Given the description of an element on the screen output the (x, y) to click on. 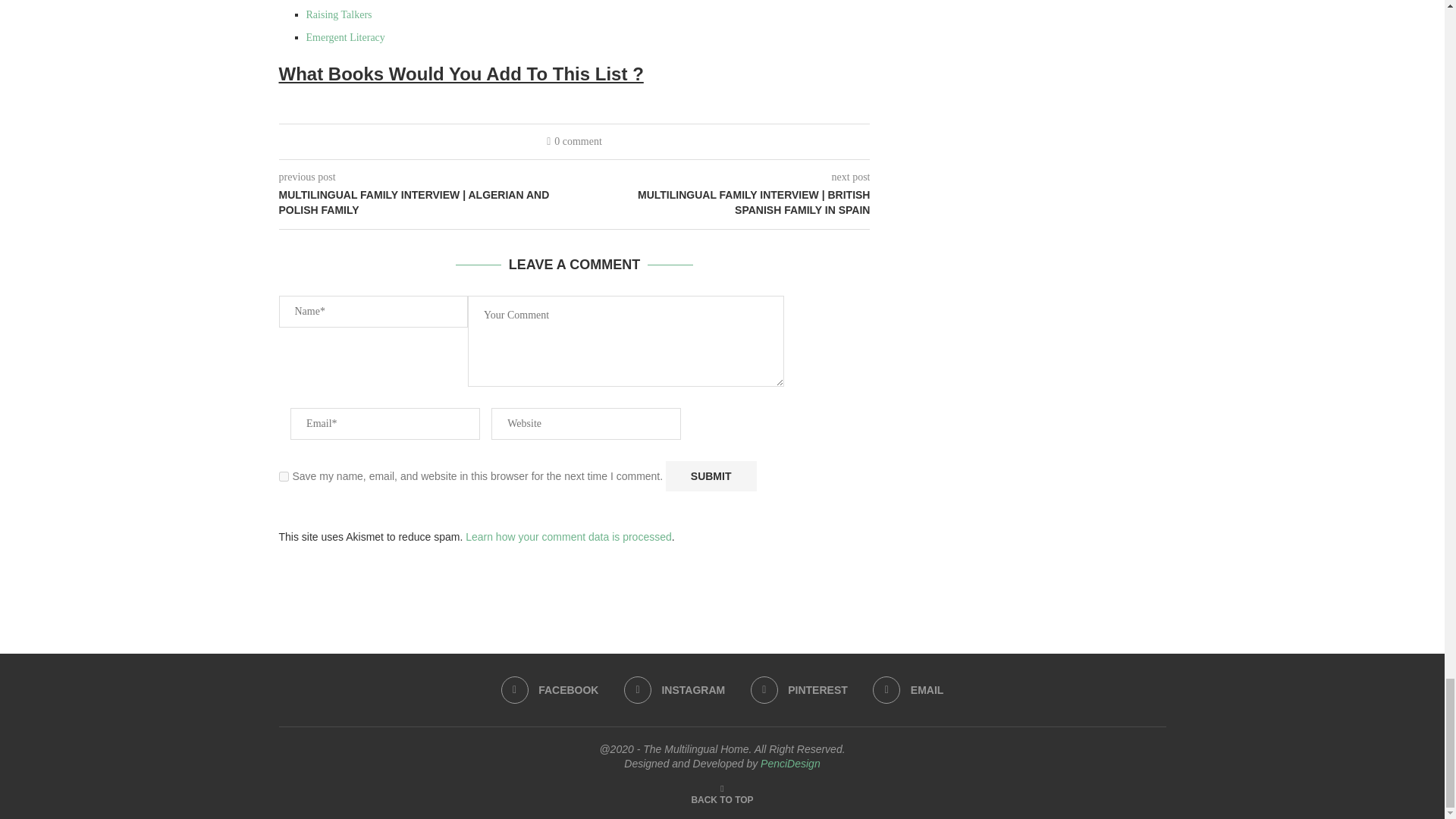
yes (283, 476)
Submit (711, 476)
